Given the description of an element on the screen output the (x, y) to click on. 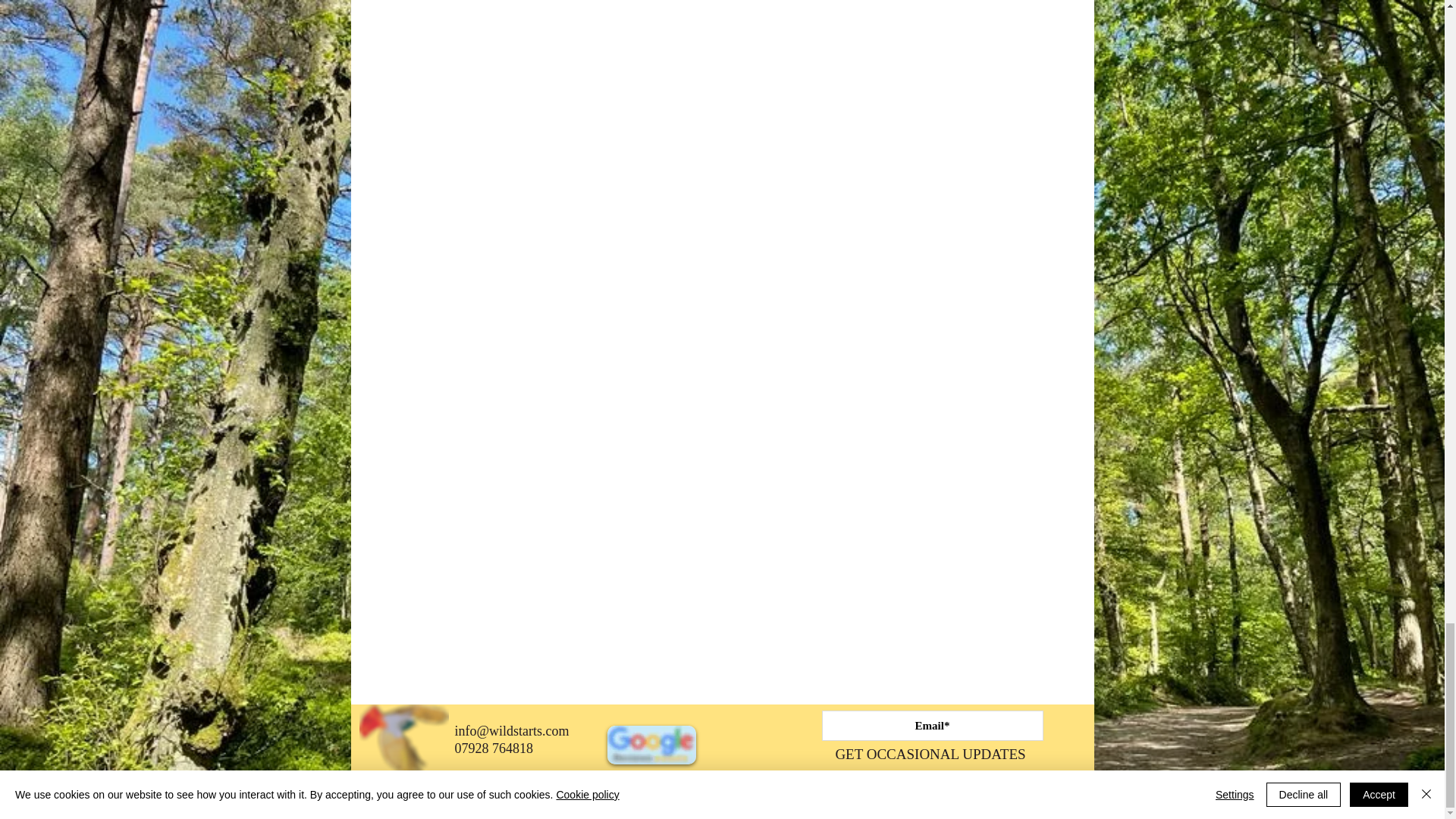
Terms and Conditions (557, 802)
Cookie Policy (465, 802)
GET OCCASIONAL UPDATES (930, 754)
Privacy Policy (392, 802)
